Given the description of an element on the screen output the (x, y) to click on. 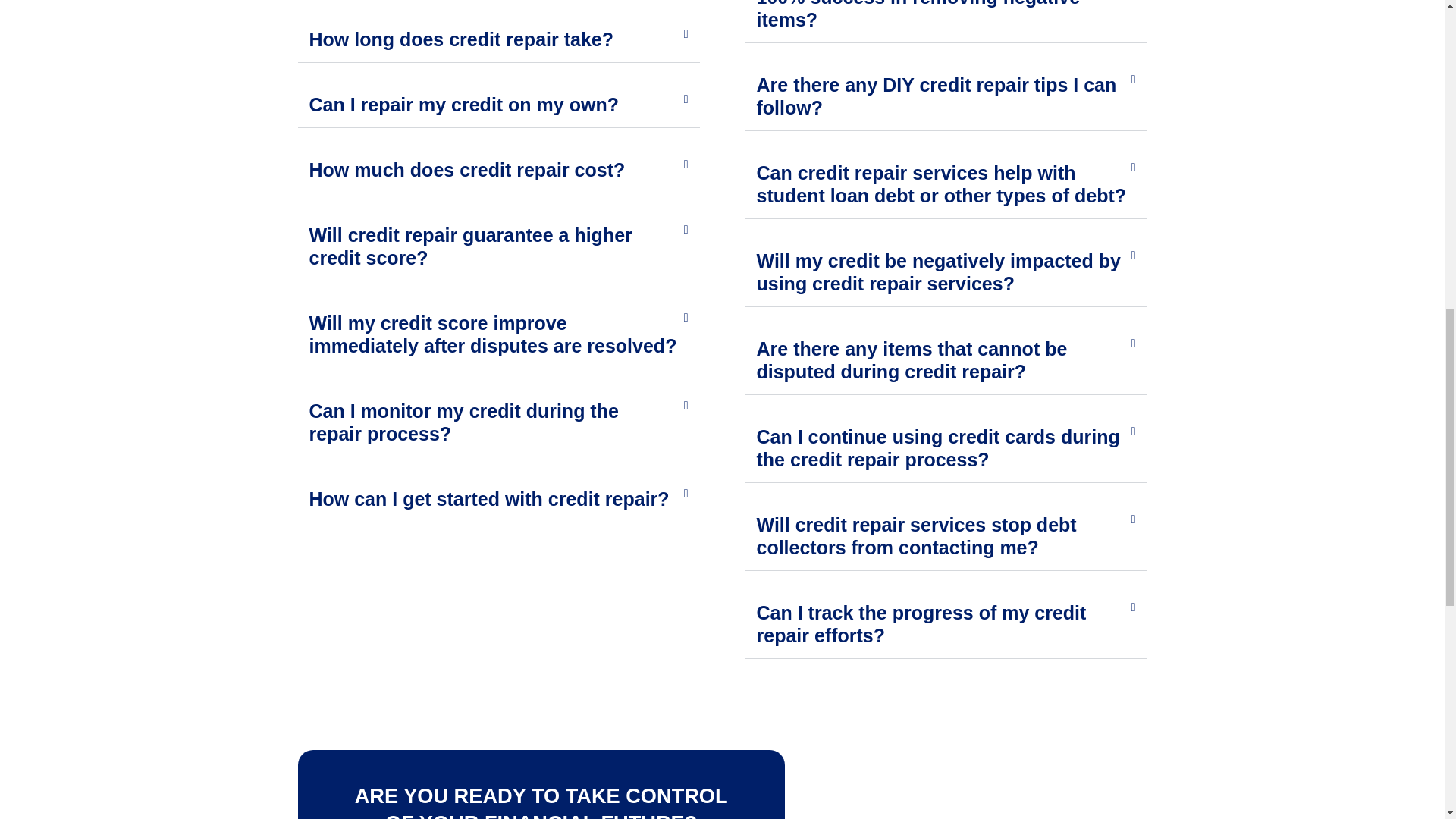
How much does credit repair cost? (467, 169)
How long does credit repair take? (460, 38)
Can I repair my credit on my own? (463, 104)
